Given the description of an element on the screen output the (x, y) to click on. 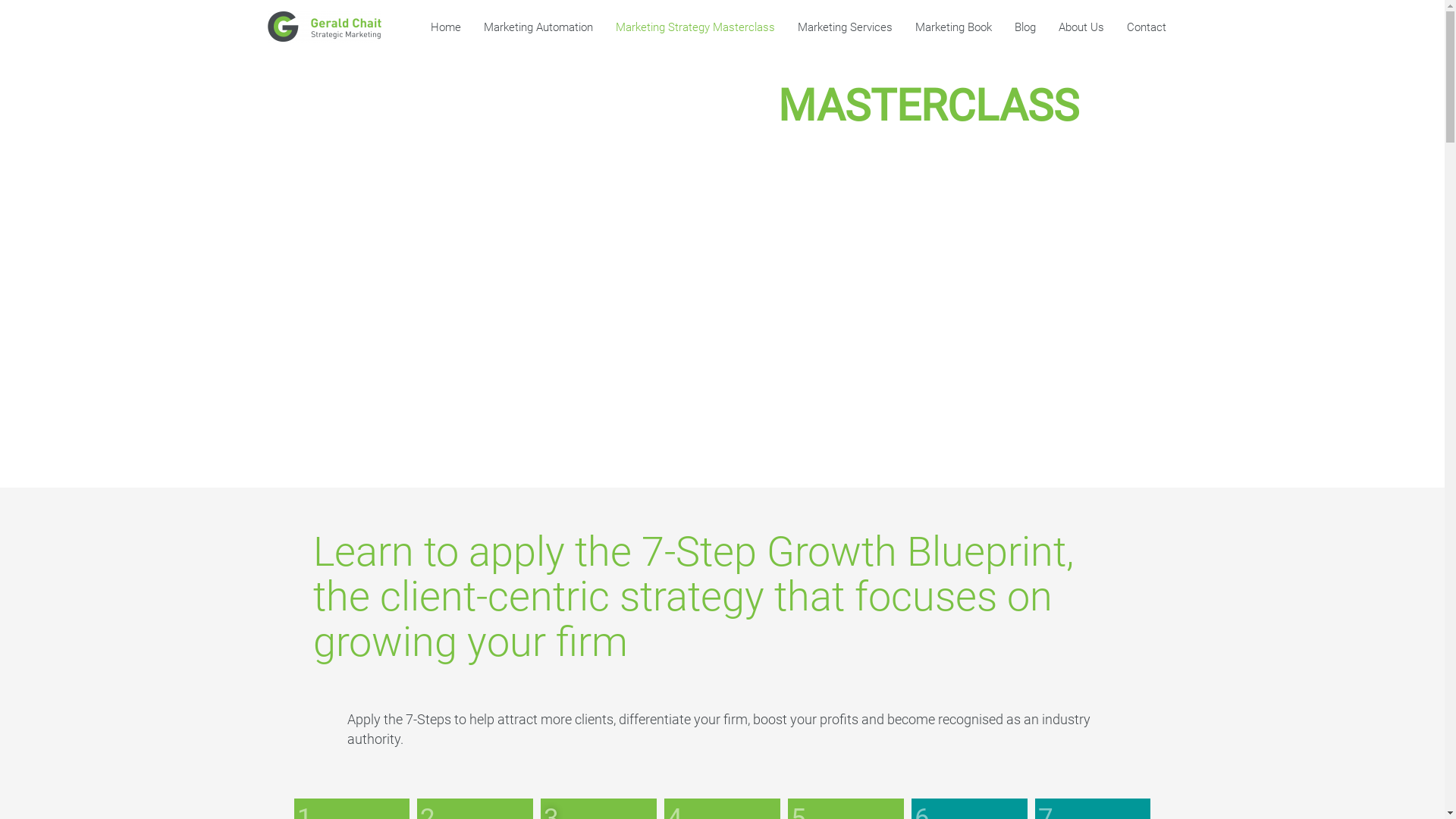
Marketing Automation Element type: text (537, 27)
About Us Element type: text (1080, 27)
Blog Element type: text (1024, 27)
Marketing Strategy Masterclass Element type: text (694, 27)
Marketing Services Element type: text (844, 27)
Contact Element type: text (1145, 27)
Marketing Book Element type: text (953, 27)
Home Element type: text (444, 27)
